Given the description of an element on the screen output the (x, y) to click on. 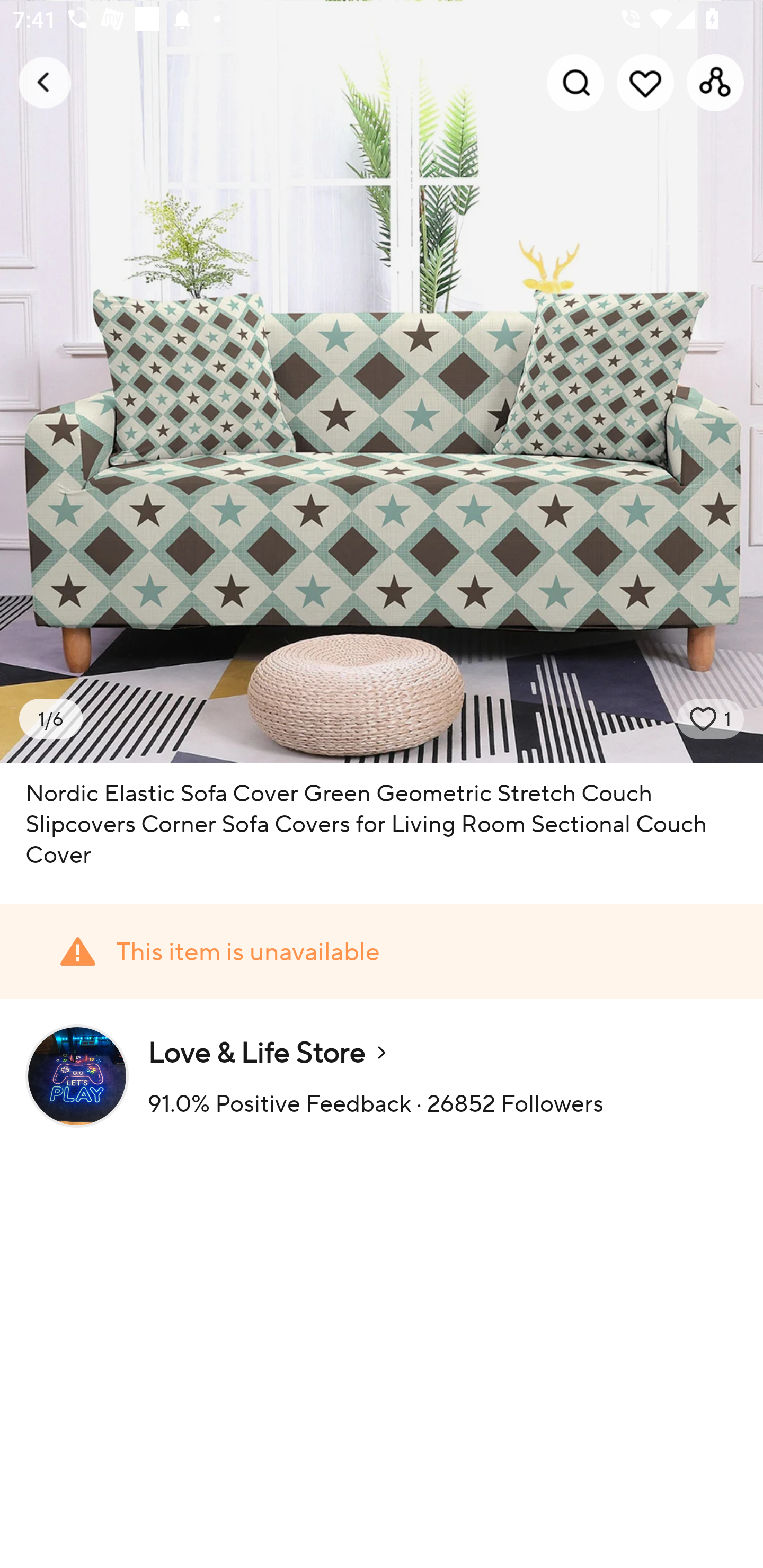
Navigate up (44, 82)
wish state 1 (710, 718)
